Given the description of an element on the screen output the (x, y) to click on. 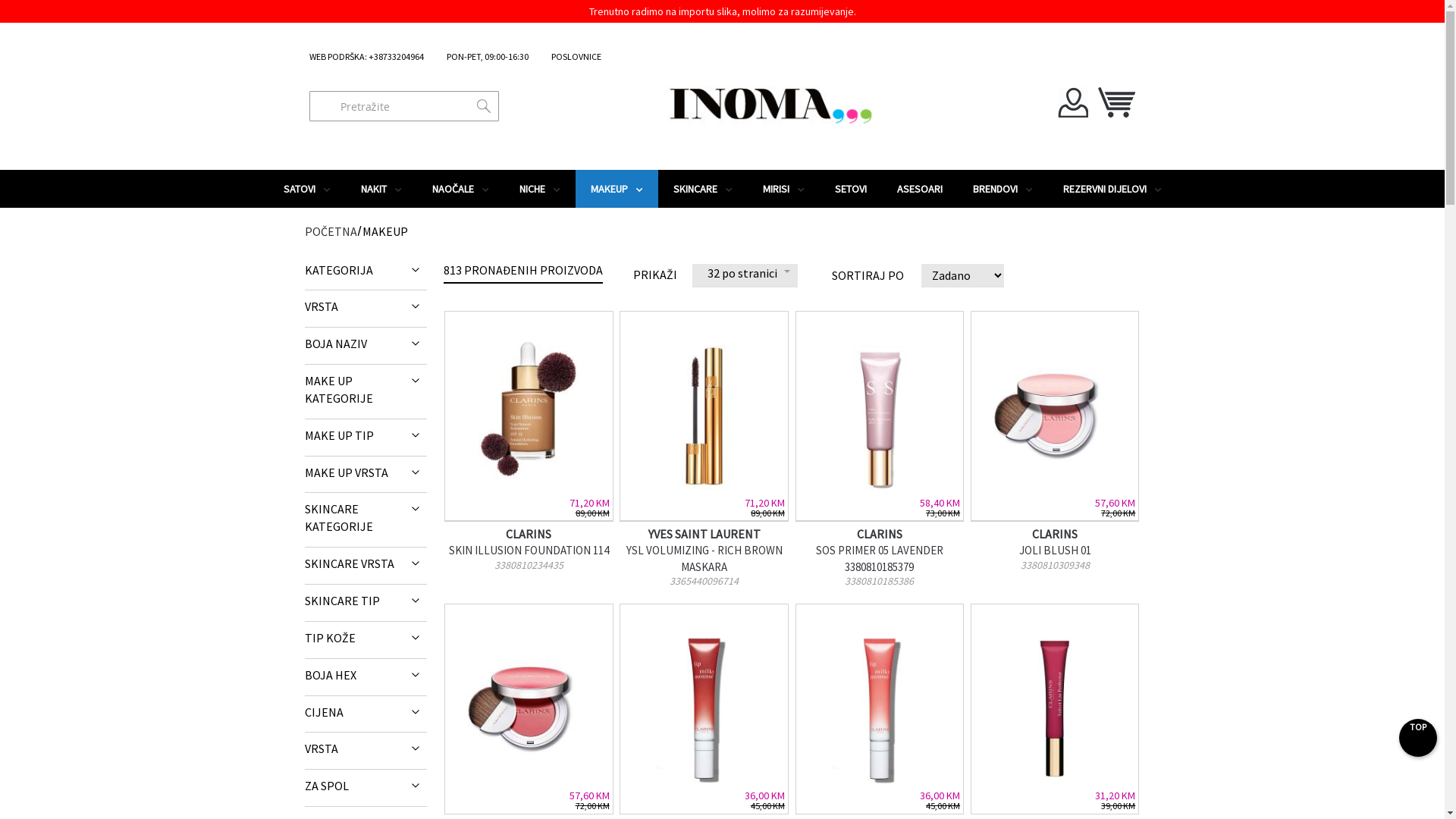
CLARINS
JOLI BLUSH 01 Element type: text (1054, 541)
ASESOARI Element type: text (919, 188)
SETOVI Element type: text (850, 188)
POSLOVNICE Element type: text (575, 56)
3380810309348 Element type: text (1054, 564)
NAKIT Element type: text (381, 188)
MIRISI Element type: text (783, 188)
CLARINS
SOS PRIMER 05 LAVENDER 3380810185379 Element type: text (879, 550)
TOP Element type: text (1418, 737)
3365440096714 Element type: text (703, 580)
BRENDOVI Element type: text (1002, 188)
SKINCARE Element type: text (702, 188)
CLARINS
SKIN ILLUSION FOUNDATION 114 Element type: text (528, 541)
+38733204964 Element type: text (395, 56)
SATOVI Element type: text (306, 188)
YVES SAINT LAURENT
YSL VOLUMIZING - RICH BROWN MASKARA Element type: text (703, 550)
MAKEUP Element type: text (615, 188)
3380810234435 Element type: text (528, 564)
REZERVNI DIJELOVI Element type: text (1112, 188)
3380810185386 Element type: text (879, 580)
Search Element type: text (403, 102)
NICHE Element type: text (538, 188)
Logo Inoma Element type: hover (757, 103)
Logo Inoma Element type: hover (757, 103)
